Given the description of an element on the screen output the (x, y) to click on. 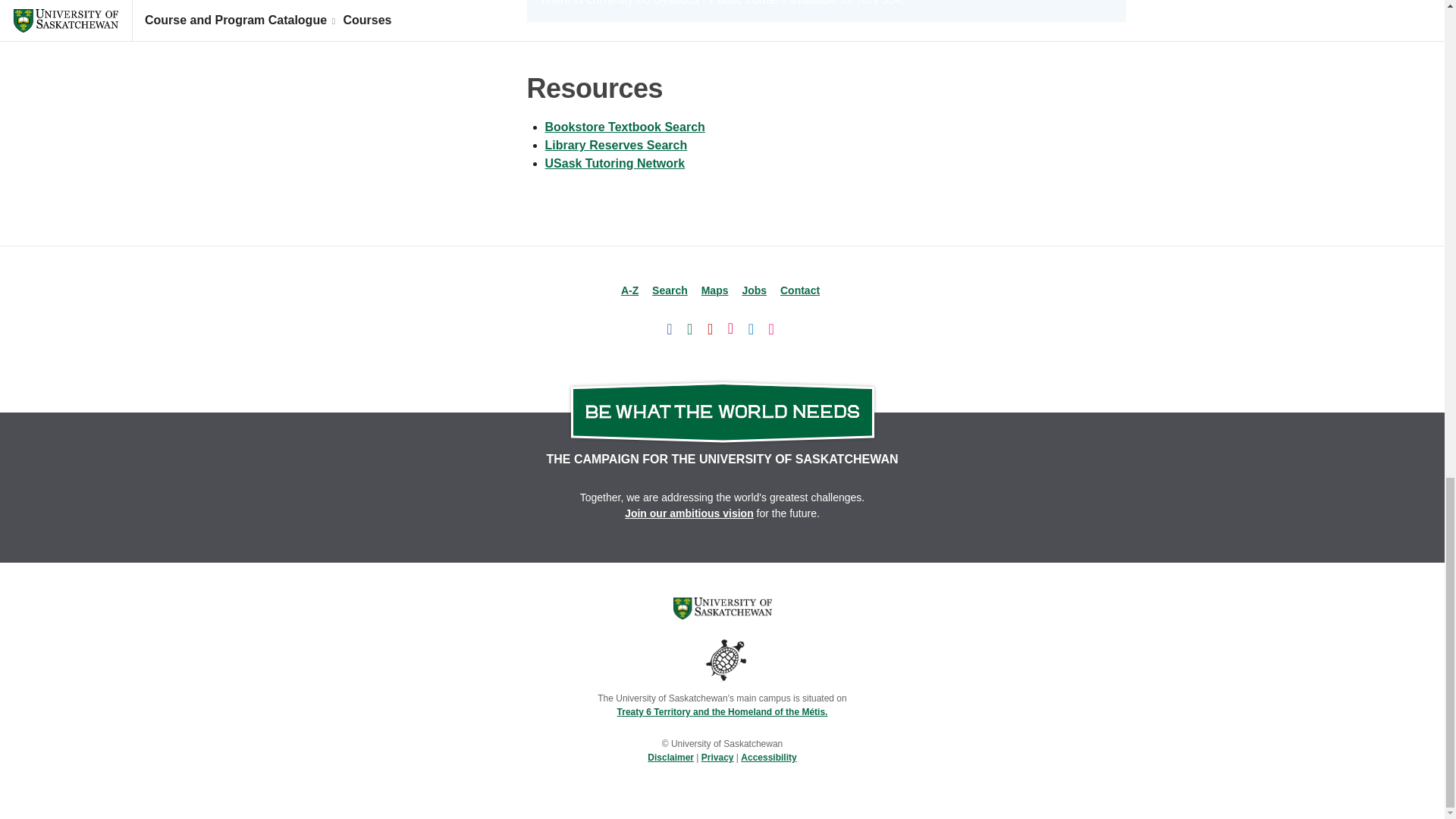
USask Tutoring Network (614, 163)
Bookstore Textbook Search (624, 126)
Maps (715, 290)
Join our ambitious vision (689, 512)
A-Z (630, 290)
Library Reserves Search (615, 144)
Accessibility (768, 757)
Search (669, 290)
Privacy (717, 757)
Jobs (754, 290)
University of Saskatchewan (721, 608)
Disclaimer (670, 757)
Contact (799, 290)
